Given the description of an element on the screen output the (x, y) to click on. 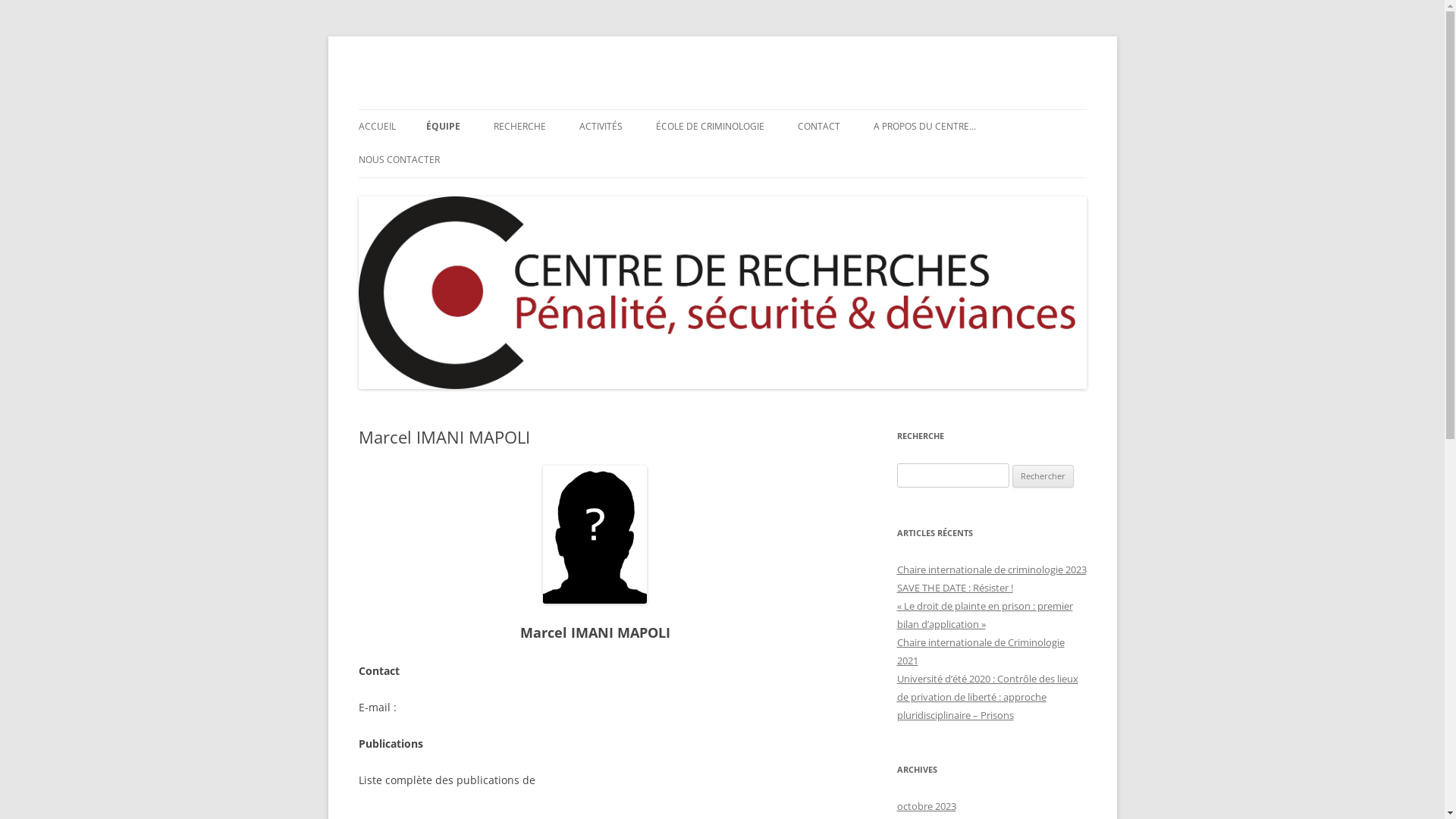
PROJETS DE RECHERCHE Element type: text (568, 158)
NOUS CONTACTER Element type: text (398, 159)
Chaire internationale de criminologie 2023 Element type: text (990, 569)
ACCUEIL Element type: text (376, 126)
Aller au contenu Element type: text (721, 109)
RECHERCHE Element type: text (518, 126)
octobre 2023 Element type: text (925, 805)
Rechercher Element type: text (1042, 475)
Chaire internationale de Criminologie 2021 Element type: text (979, 651)
CONTACT Element type: text (818, 126)
